Given the description of an element on the screen output the (x, y) to click on. 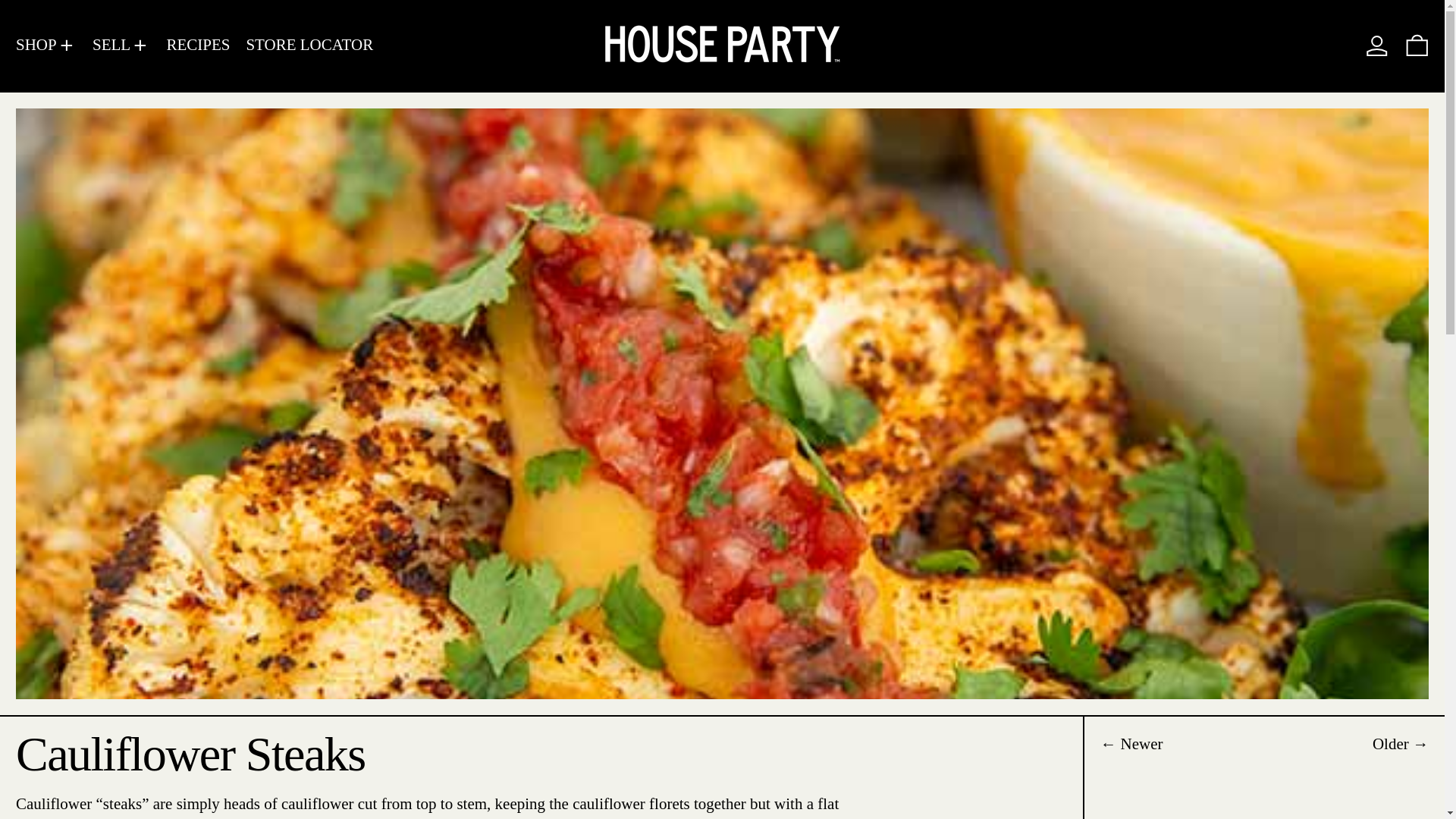
STORE LOCATOR (309, 45)
Older (1400, 744)
Newer (1130, 744)
Newer (1130, 744)
Older (1400, 744)
